Given the description of an element on the screen output the (x, y) to click on. 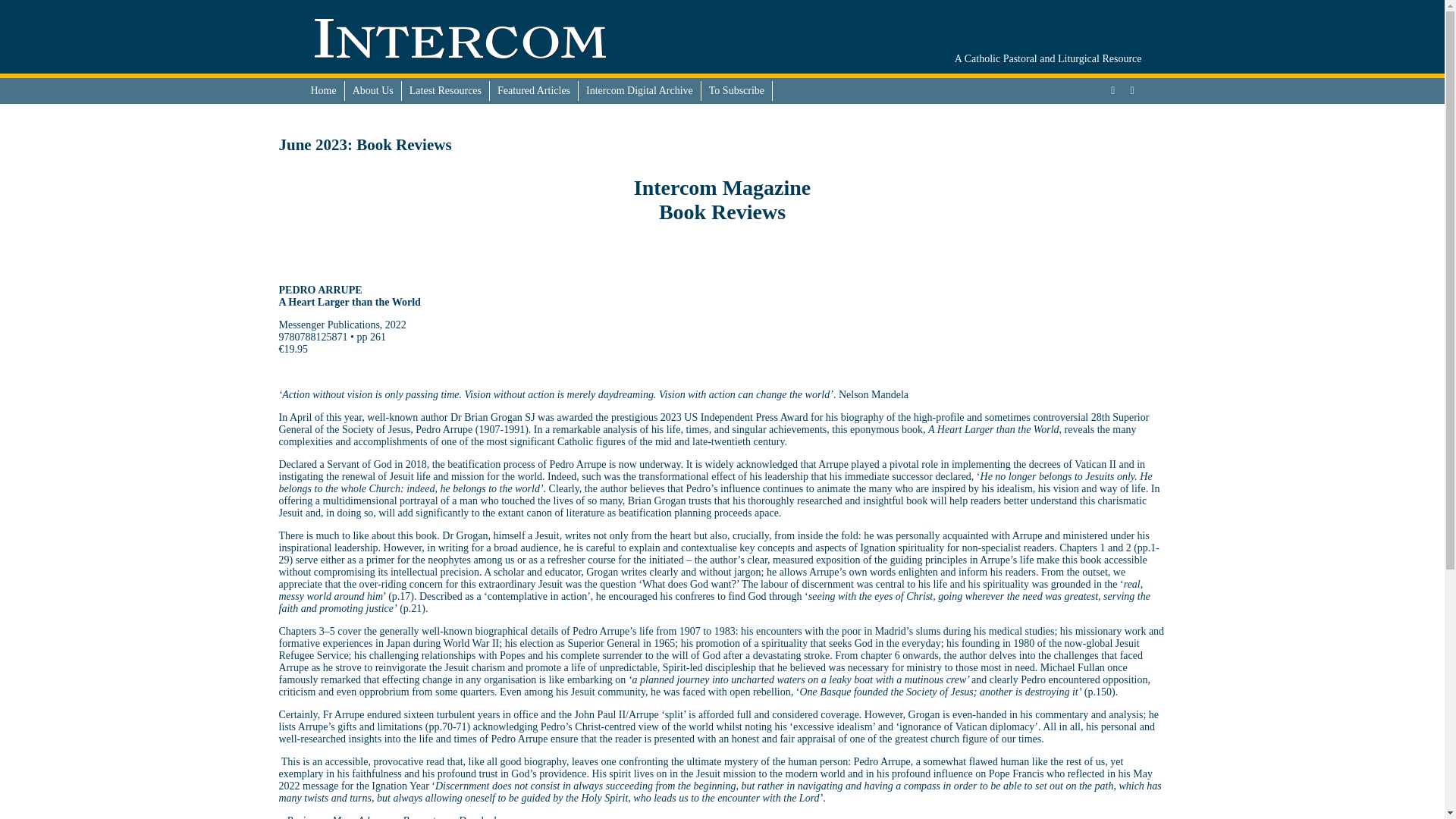
Intercom Digital Archive (639, 90)
Featured Articles (533, 90)
Home (323, 90)
To Subscribe (737, 90)
Latest Resources (445, 90)
About Us (373, 90)
